Given the description of an element on the screen output the (x, y) to click on. 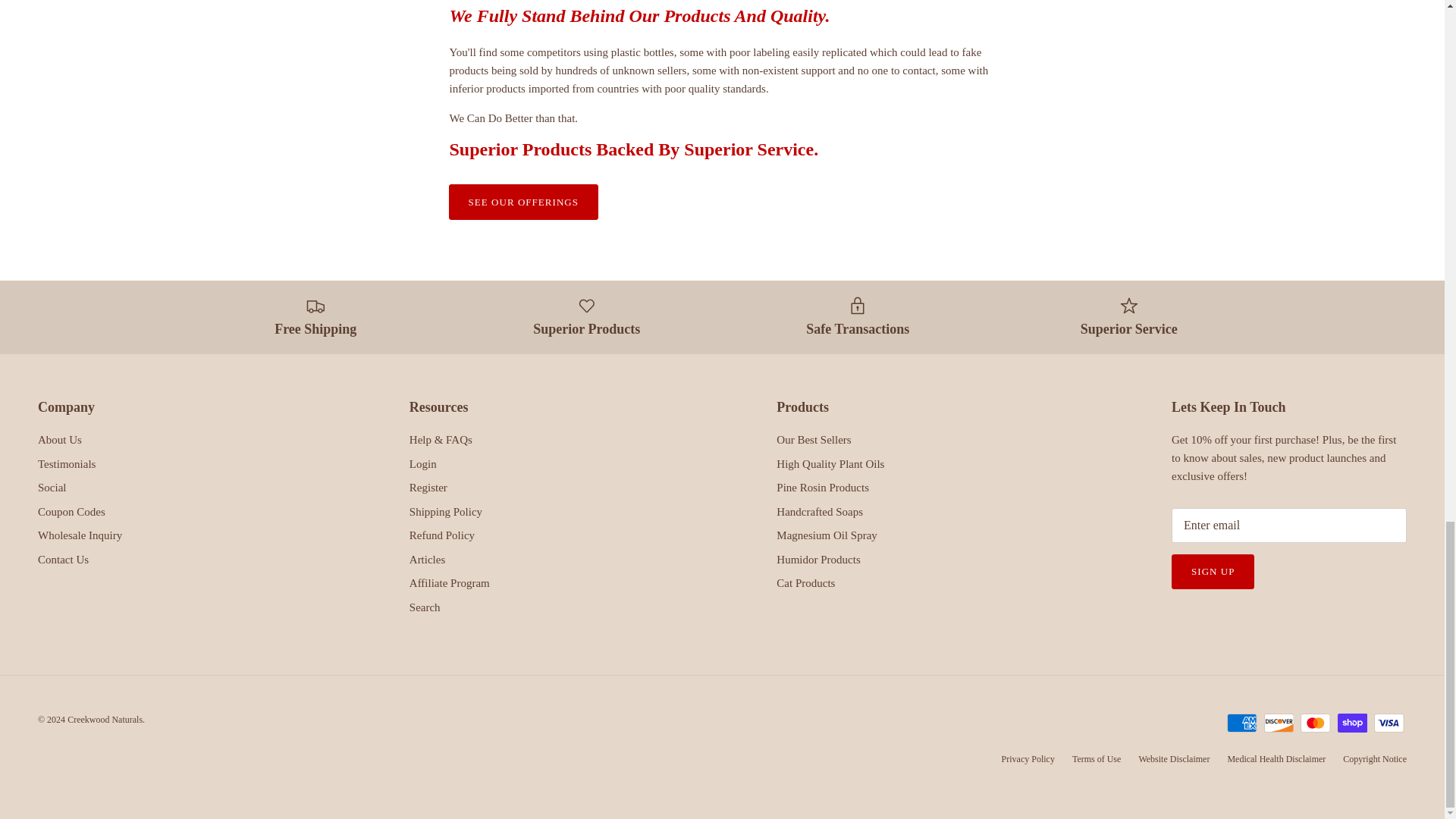
Visa (1388, 722)
Shop Pay (1352, 722)
Mastercard (1315, 722)
American Express (1241, 722)
Discover (1278, 722)
